Given the description of an element on the screen output the (x, y) to click on. 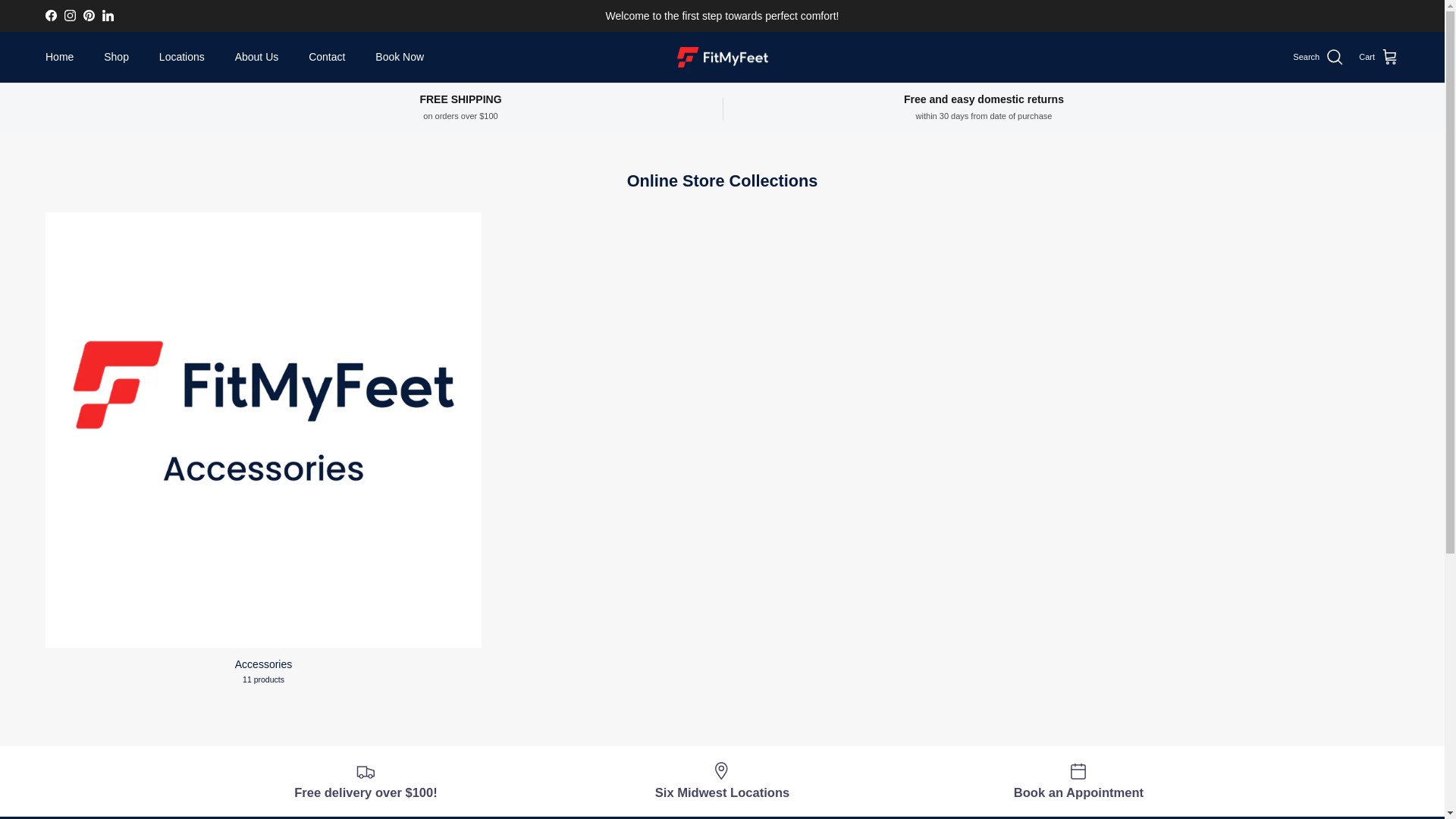
Fit My Feet on Facebook (50, 15)
Cart (1378, 57)
Book Now (399, 56)
Shop (116, 56)
Fit My Feet on Pinterest (88, 15)
Search (1317, 57)
Fit My Feet on Instagram (69, 15)
LinkedIn (107, 15)
Pinterest (88, 15)
Fit My Feet on LinkedIn (107, 15)
